Given the description of an element on the screen output the (x, y) to click on. 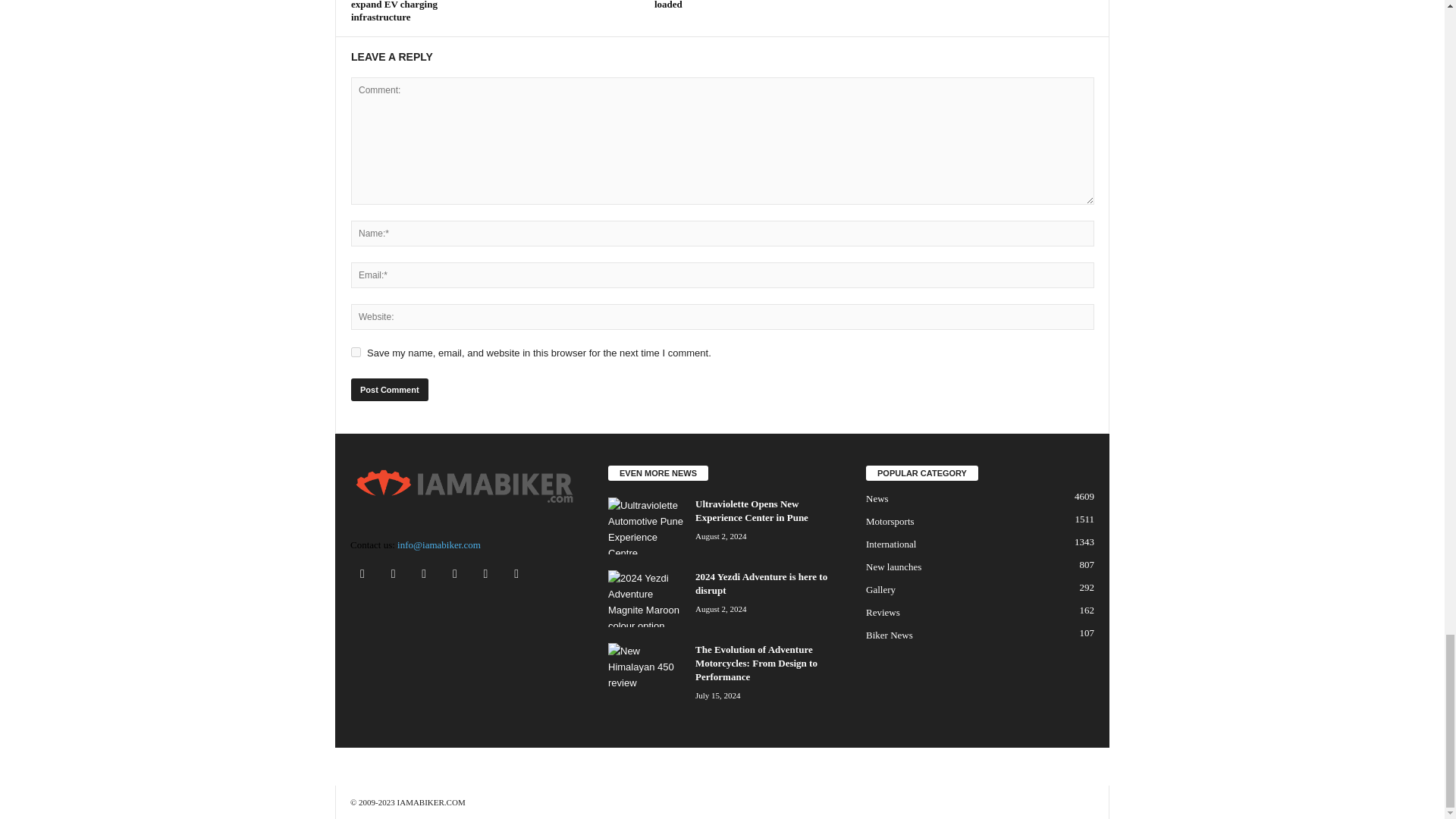
Post Comment (389, 389)
yes (355, 352)
